Given the description of an element on the screen output the (x, y) to click on. 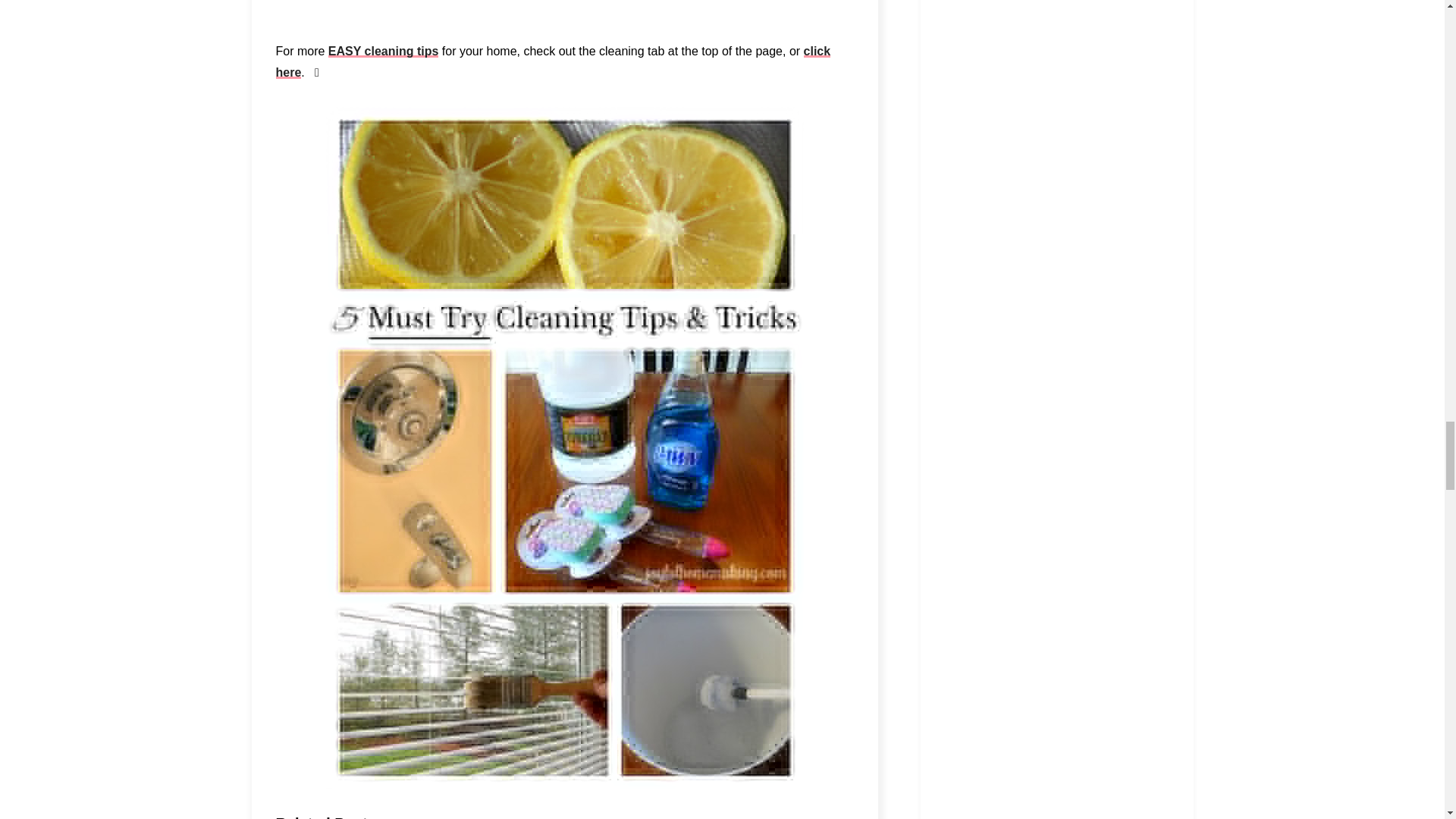
How to Clean Chrome Fixtures (564, 8)
